Given the description of an element on the screen output the (x, y) to click on. 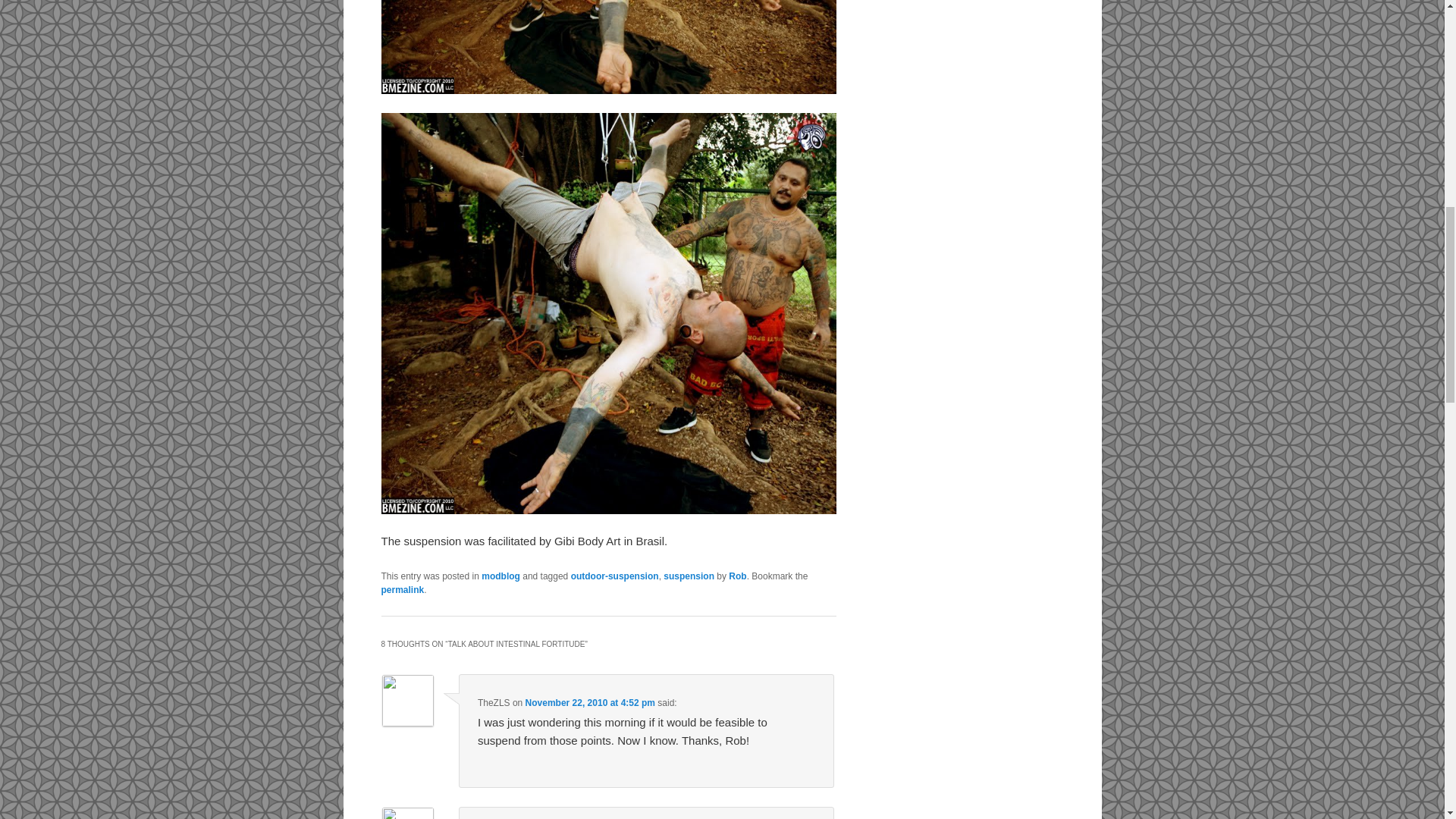
permalink (401, 589)
suspension (688, 575)
outdoor-suspension (614, 575)
modblog (500, 575)
Rob (737, 575)
Permalink to Talk about intestinal fortitude (401, 589)
November 22, 2010 at 4:52 pm (590, 702)
